Given the description of an element on the screen output the (x, y) to click on. 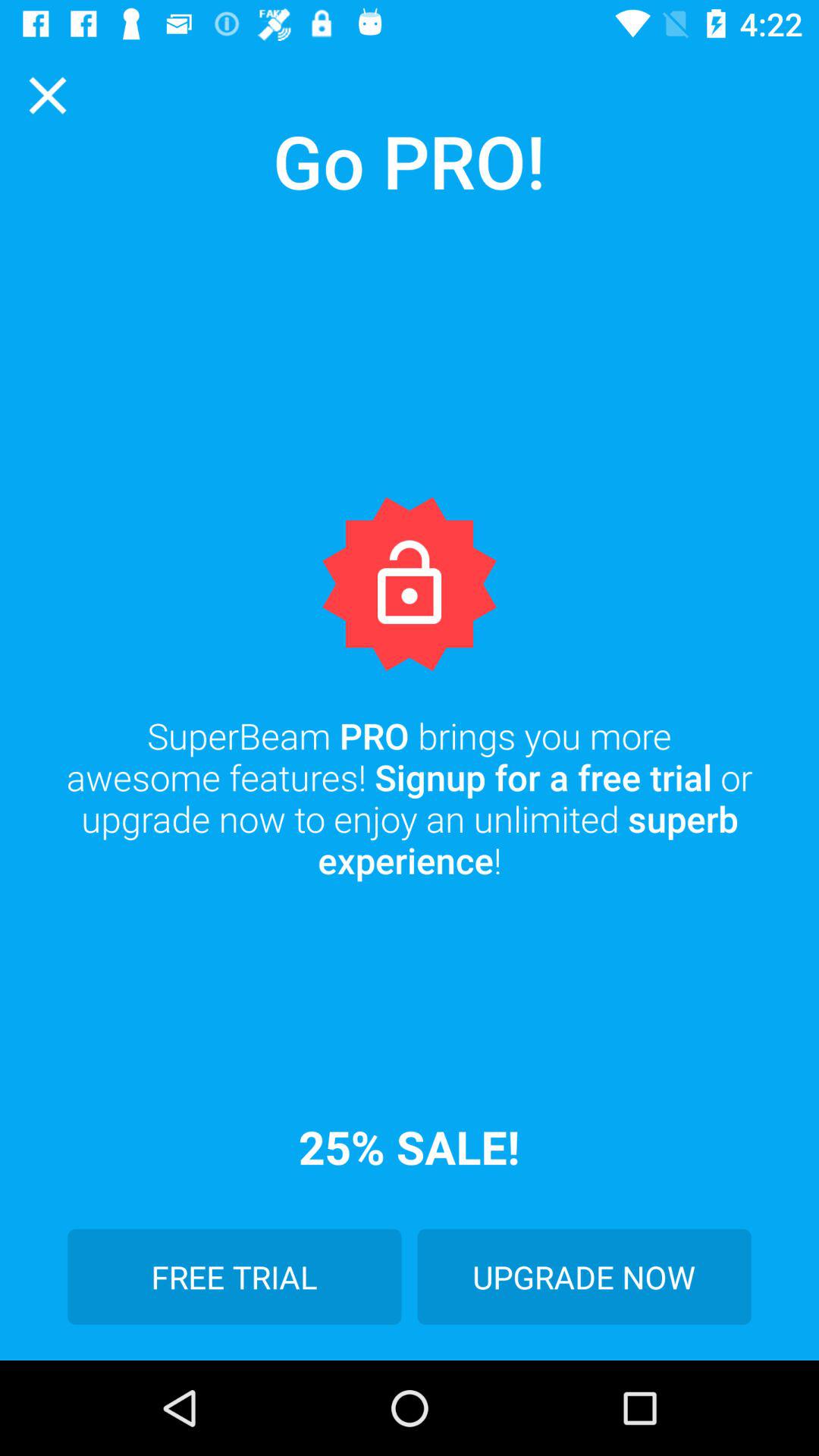
select icon at the top left corner (47, 95)
